Given the description of an element on the screen output the (x, y) to click on. 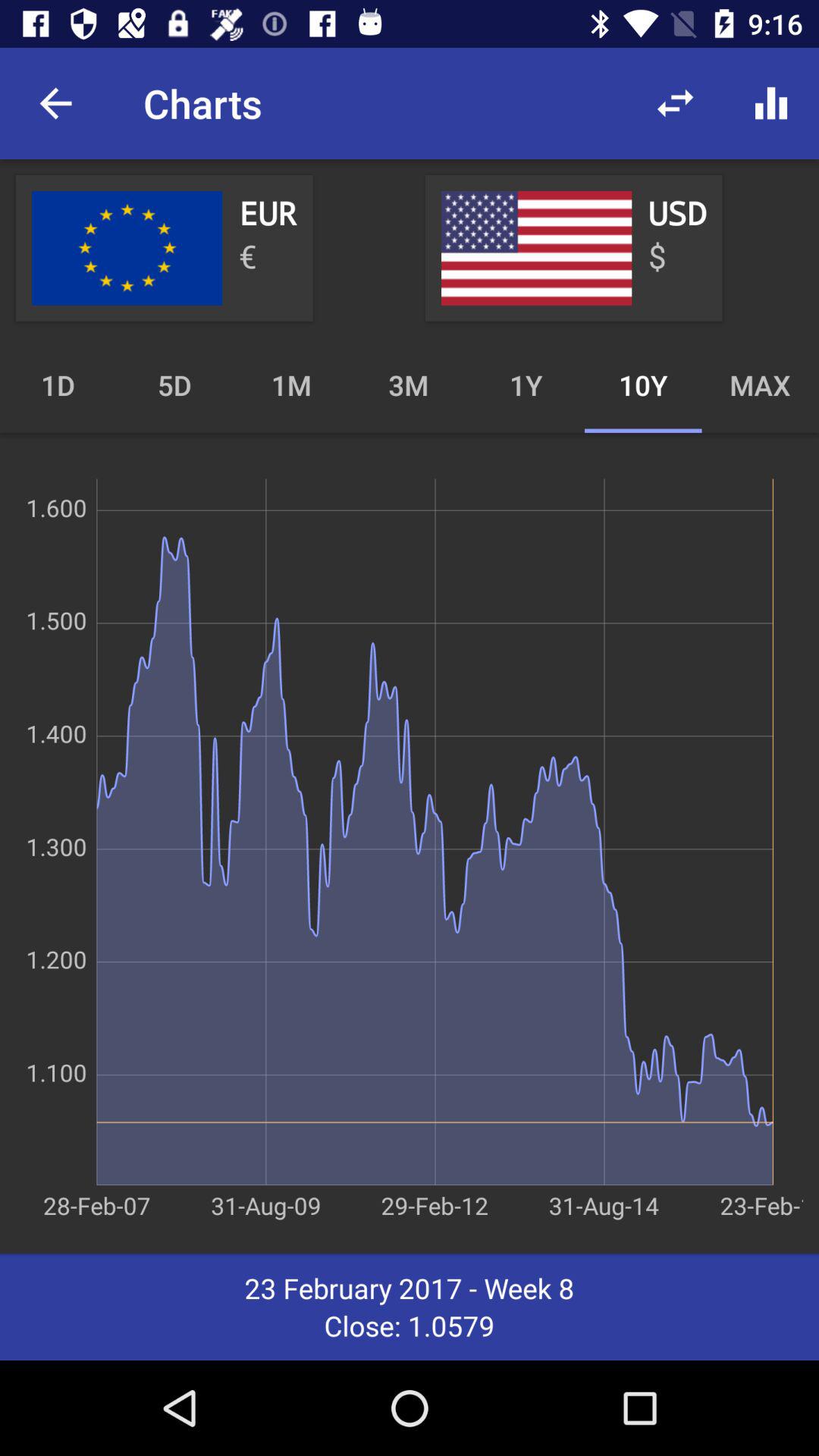
select the icon to the right of the charts (675, 103)
